Given the description of an element on the screen output the (x, y) to click on. 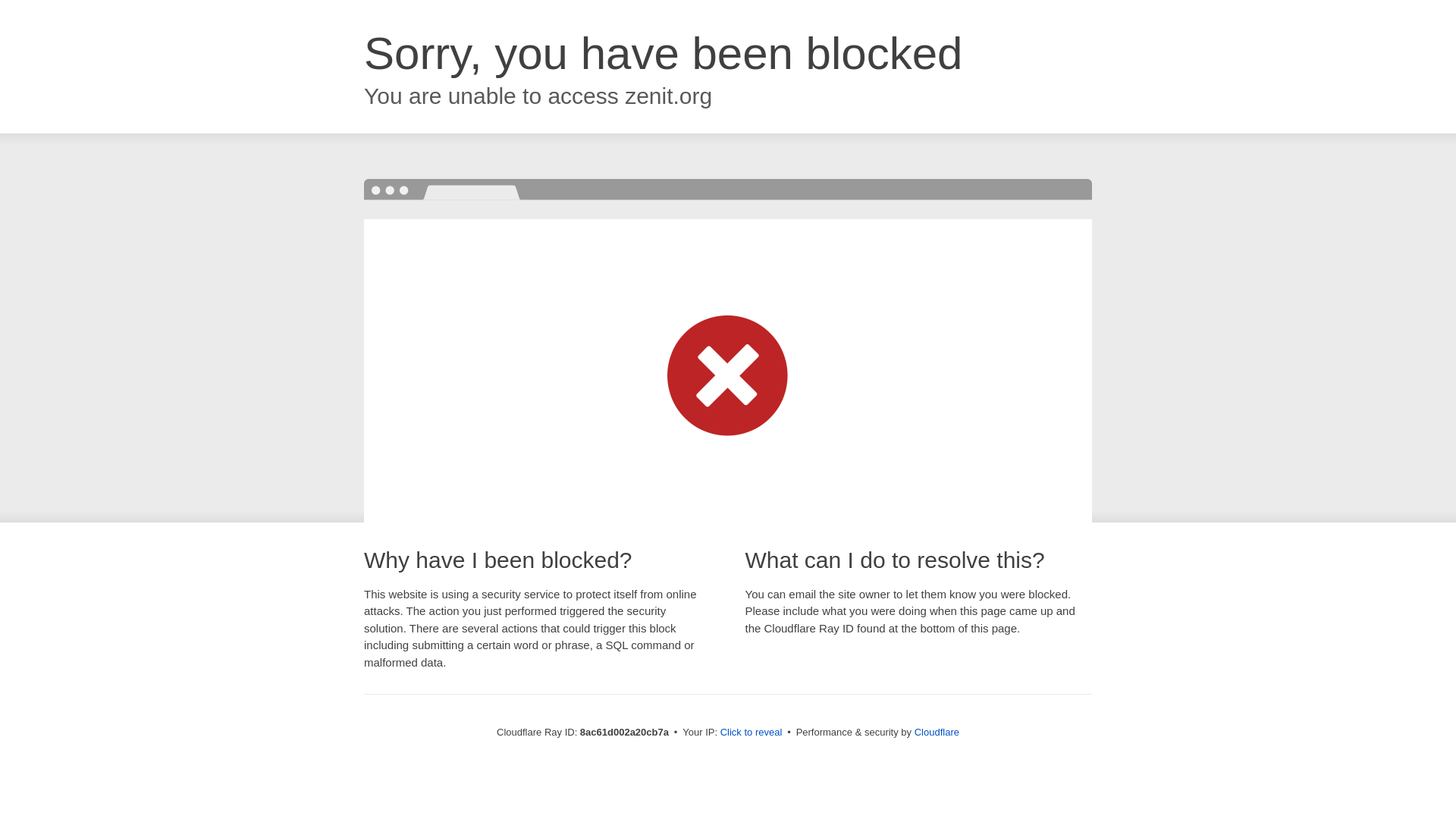
Cloudflare (936, 731)
Click to reveal (751, 732)
